Given the description of an element on the screen output the (x, y) to click on. 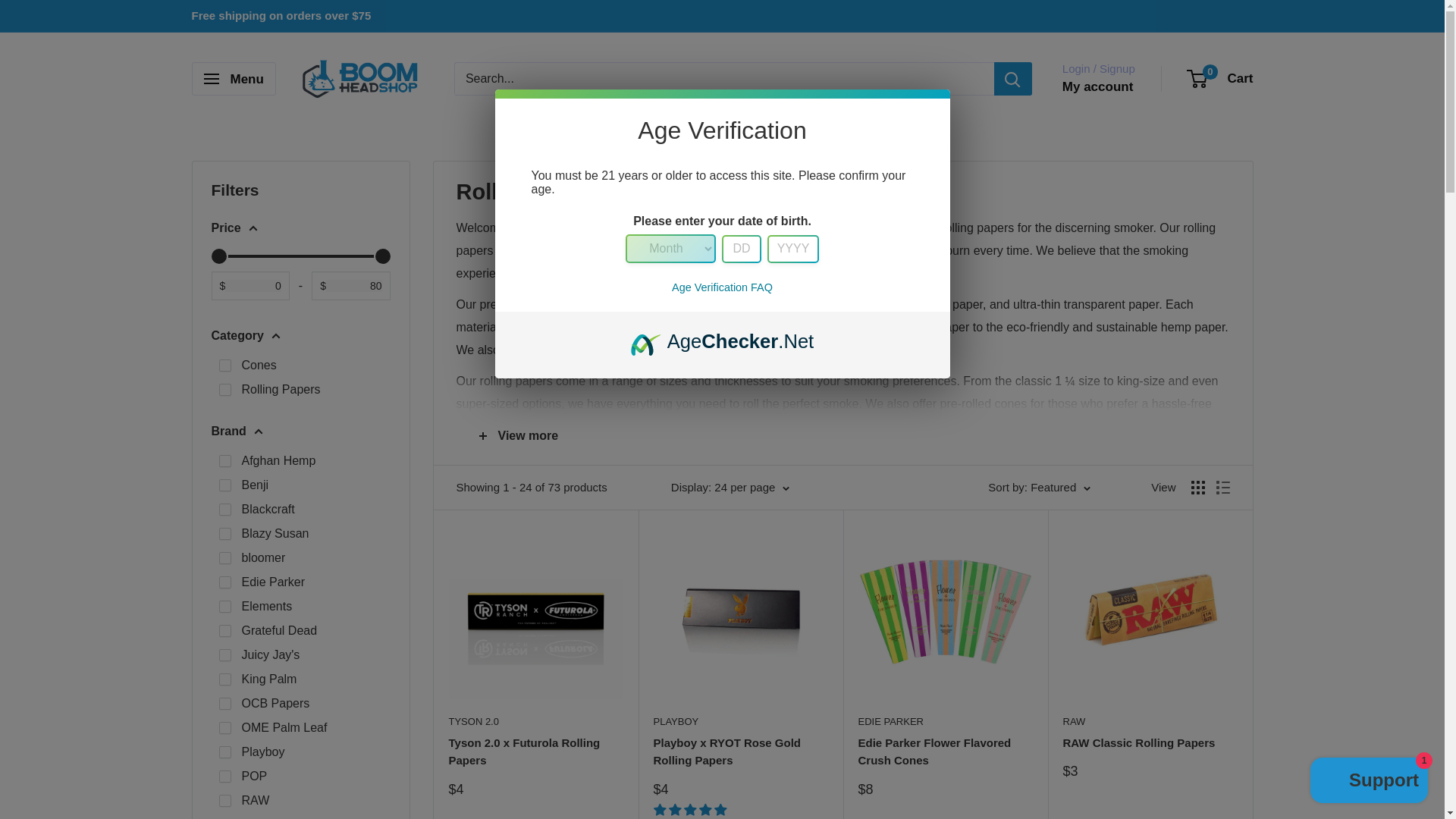
Playboy (224, 752)
Blackcraft (224, 509)
Afghan Hemp (224, 460)
OCB Papers (224, 703)
King Palm (224, 679)
Elements (224, 606)
Edie Parker (224, 582)
Cones (224, 365)
Grateful Dead (224, 630)
Blazy Susan (224, 533)
bloomer (224, 558)
OME Palm Leaf (224, 727)
80 (300, 255)
Rolling Papers (224, 389)
0 (300, 255)
